Given the description of an element on the screen output the (x, y) to click on. 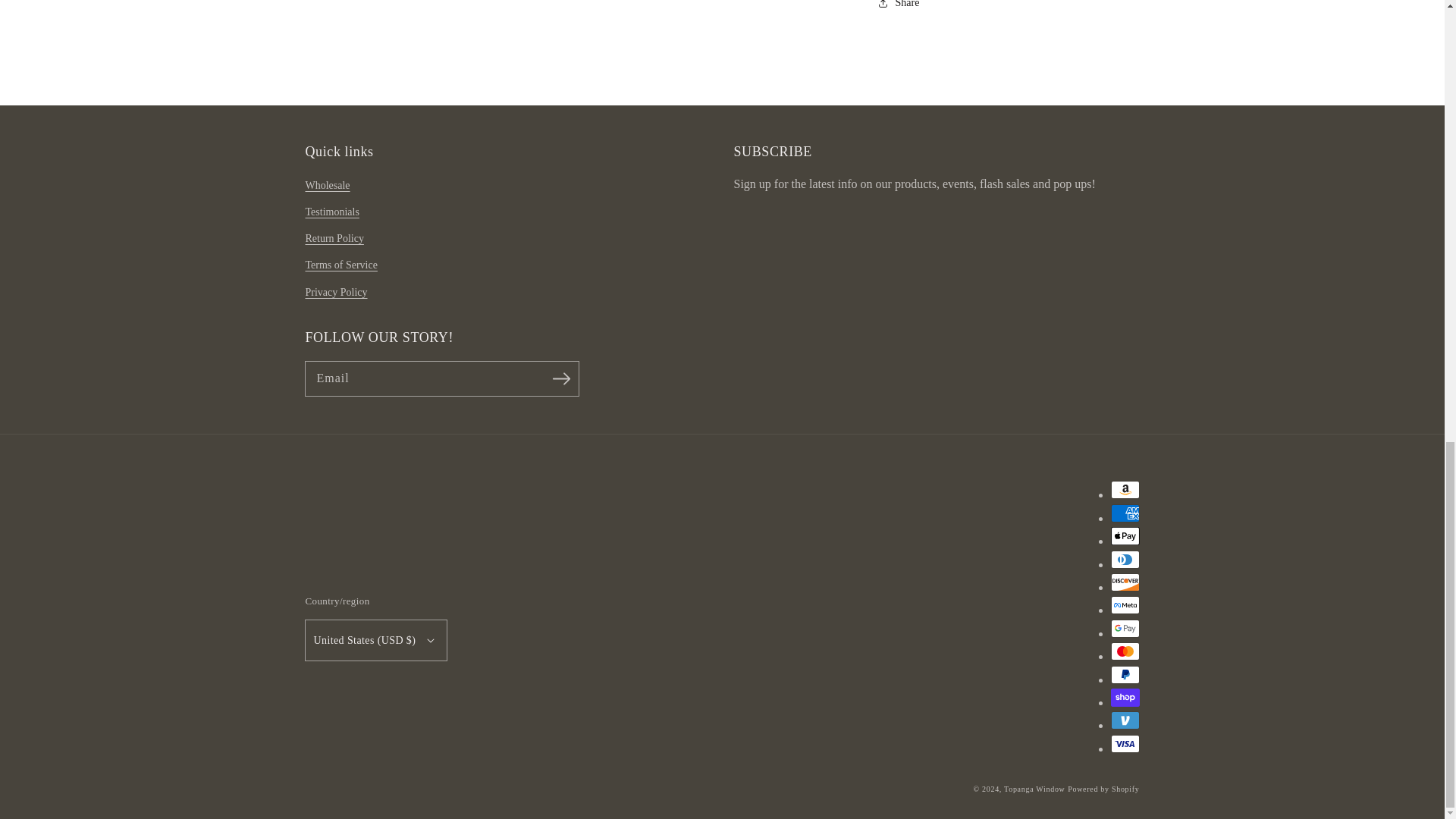
Discover (1123, 582)
Apple Pay (1123, 536)
Mastercard (1123, 651)
Amazon (1123, 489)
Meta Pay (1123, 605)
Google Pay (1123, 628)
Diners Club (1123, 559)
American Express (1123, 513)
